Given the description of an element on the screen output the (x, y) to click on. 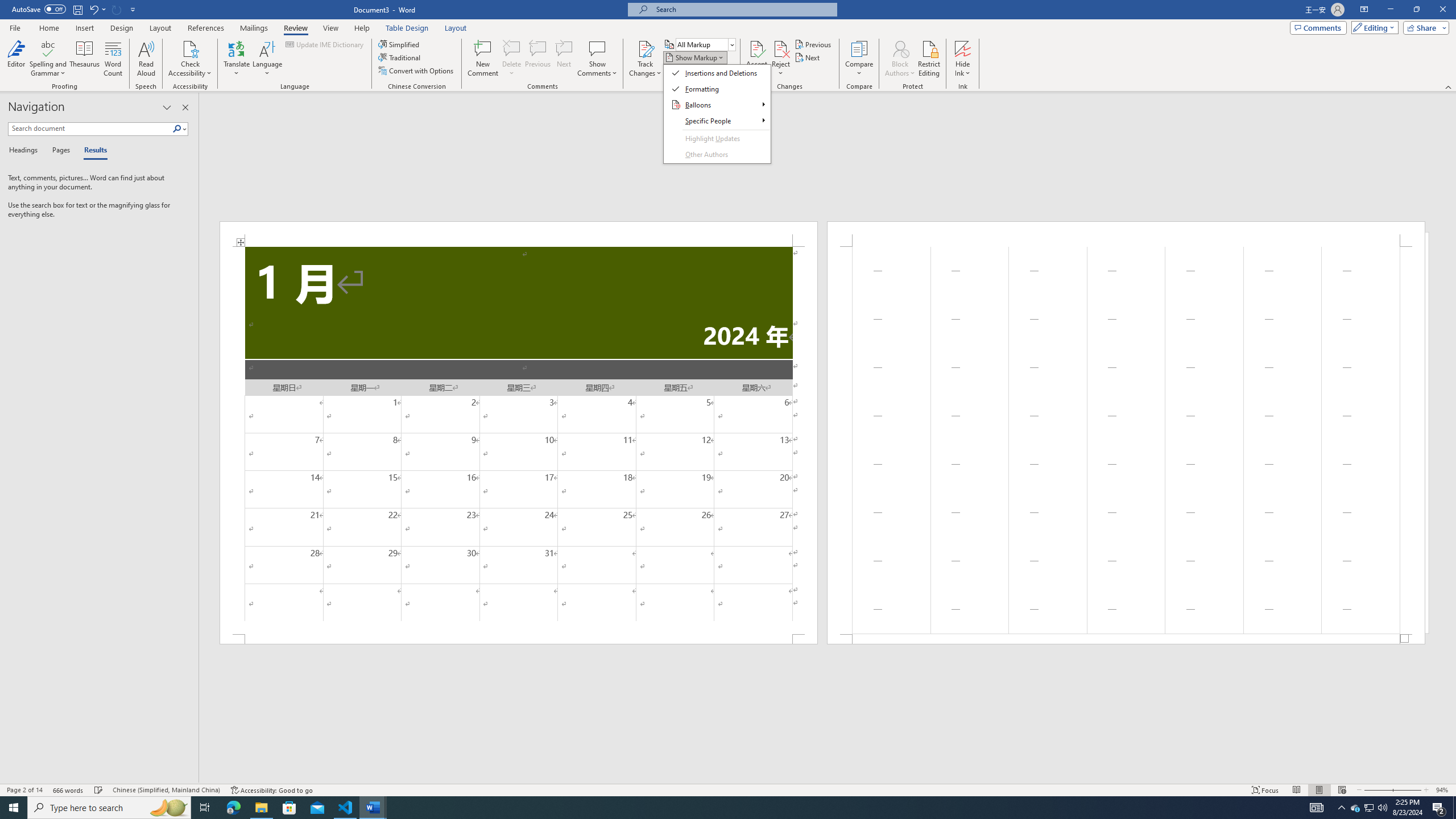
Running applications (717, 807)
Track Changes (644, 48)
Previous (813, 44)
